Given the description of an element on the screen output the (x, y) to click on. 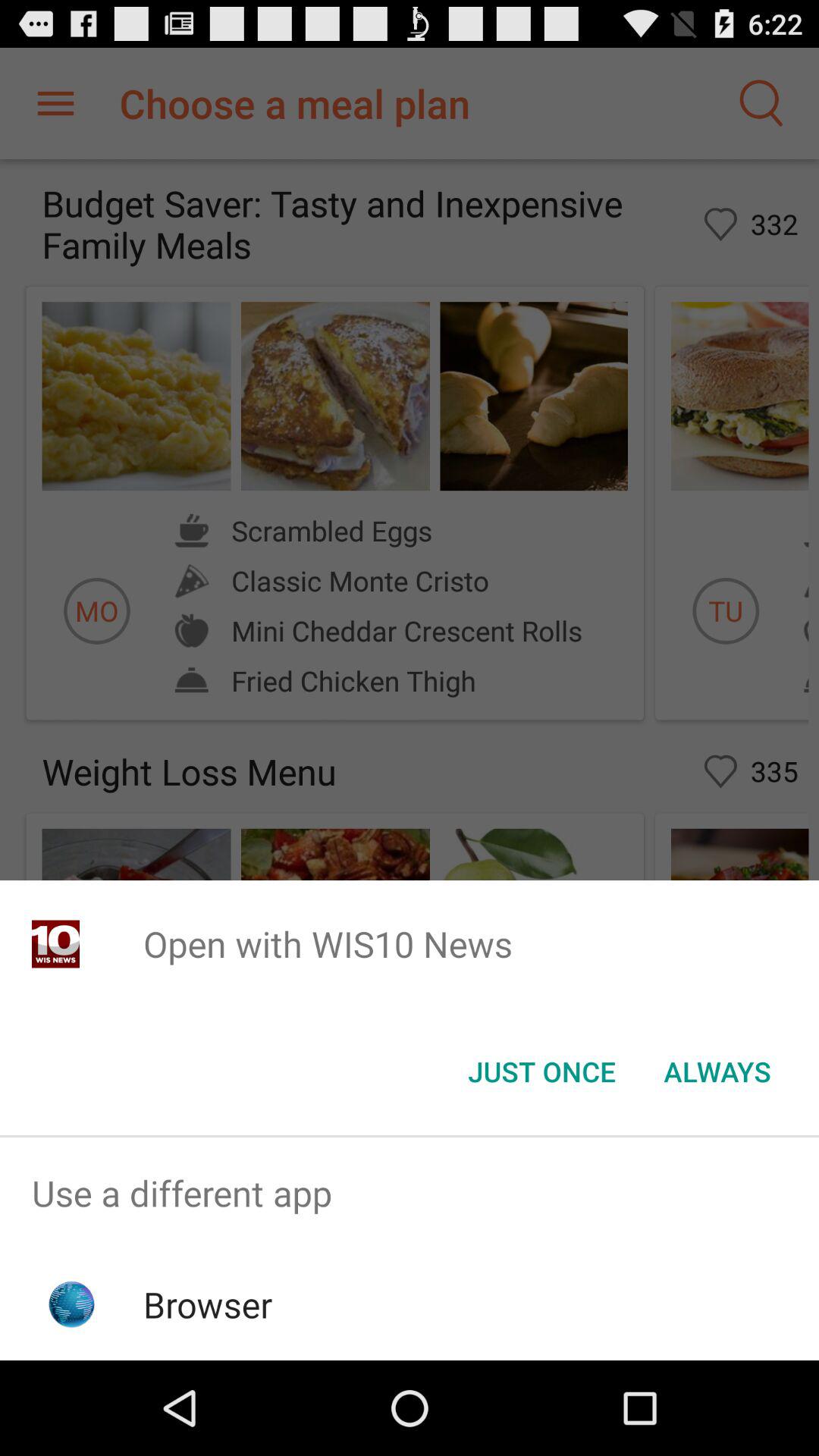
swipe until the just once (541, 1071)
